Given the description of an element on the screen output the (x, y) to click on. 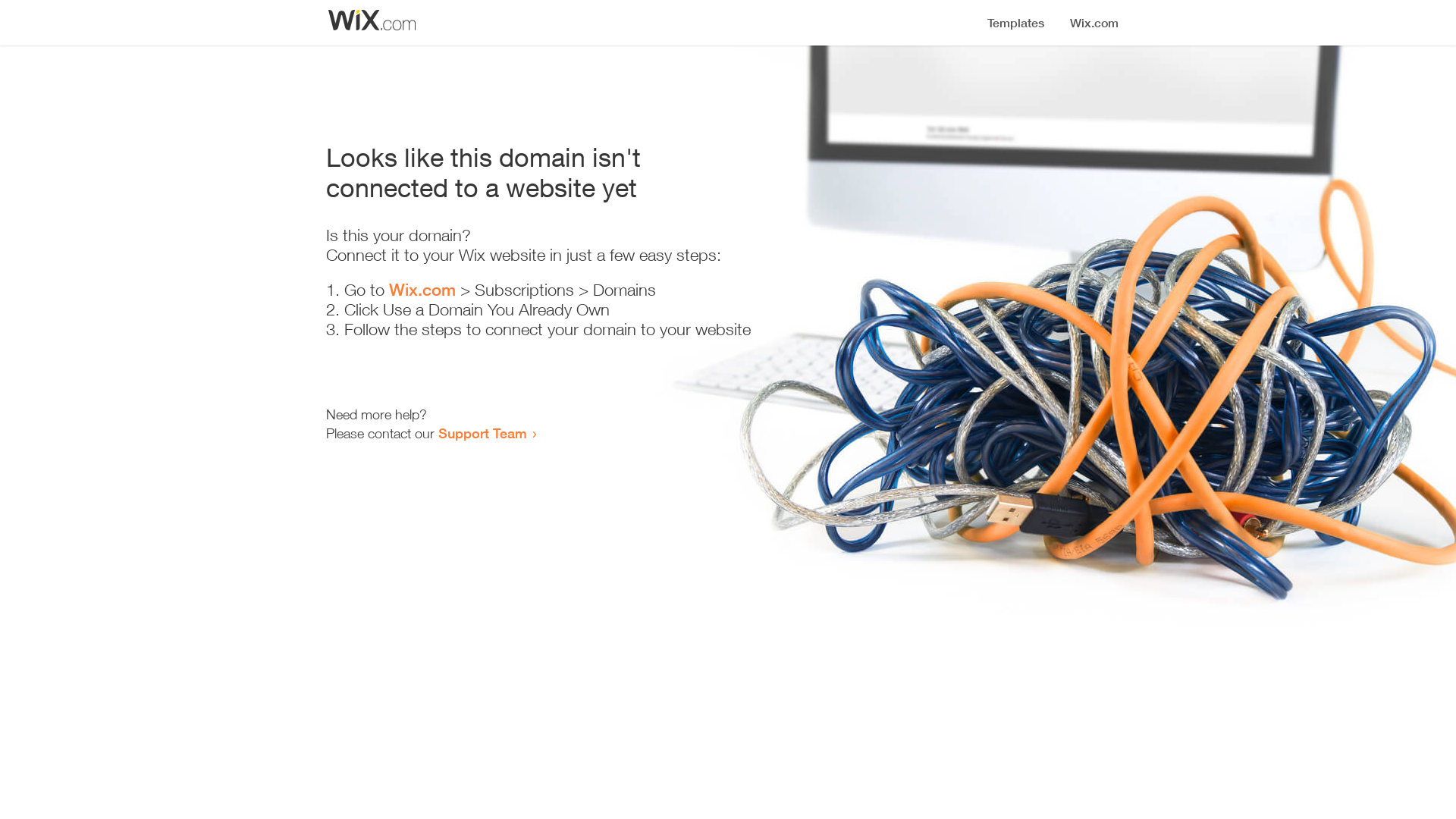
Wix.com Element type: text (422, 289)
Support Team Element type: text (482, 432)
